Given the description of an element on the screen output the (x, y) to click on. 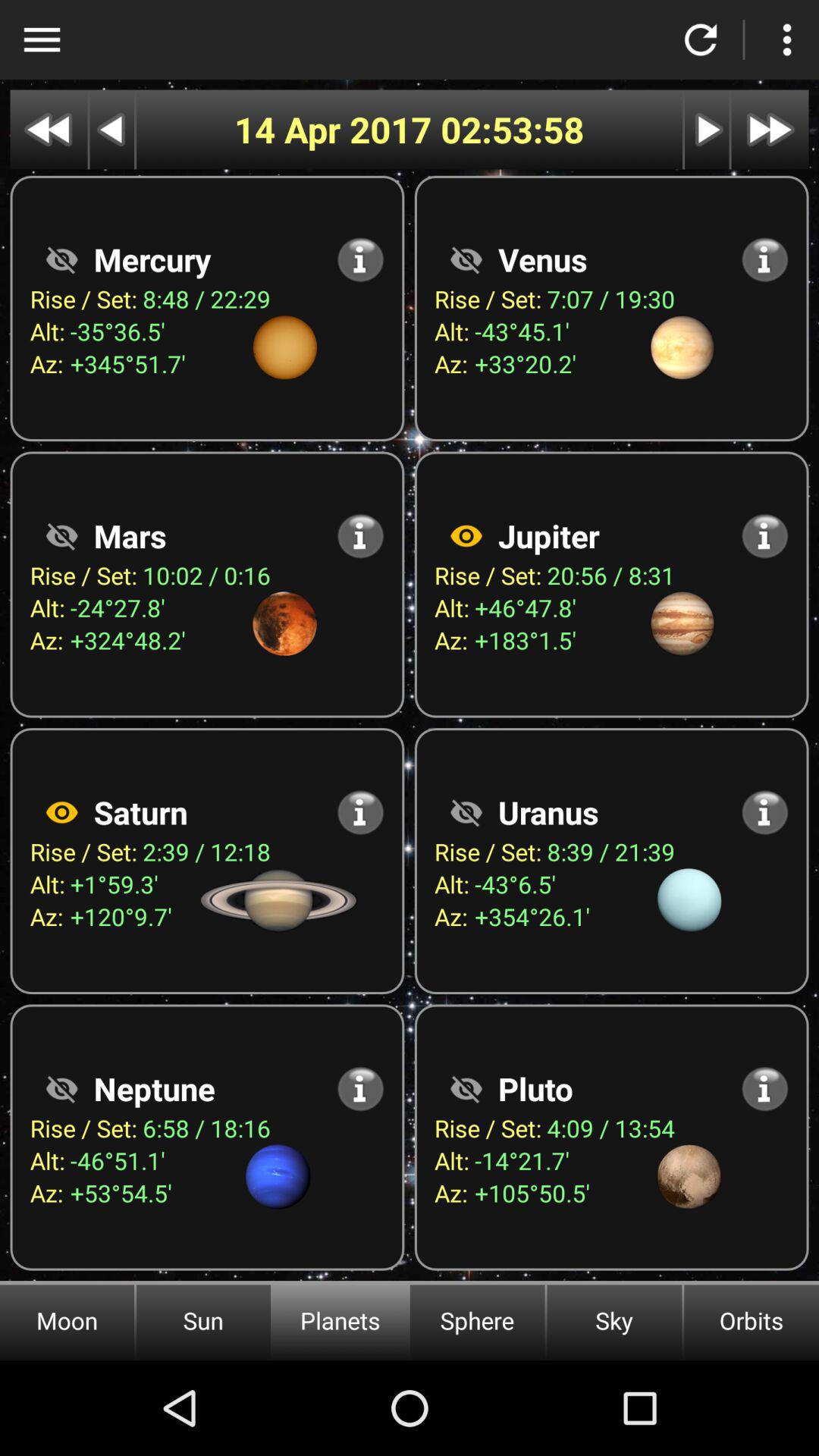
more info (360, 536)
